Given the description of an element on the screen output the (x, y) to click on. 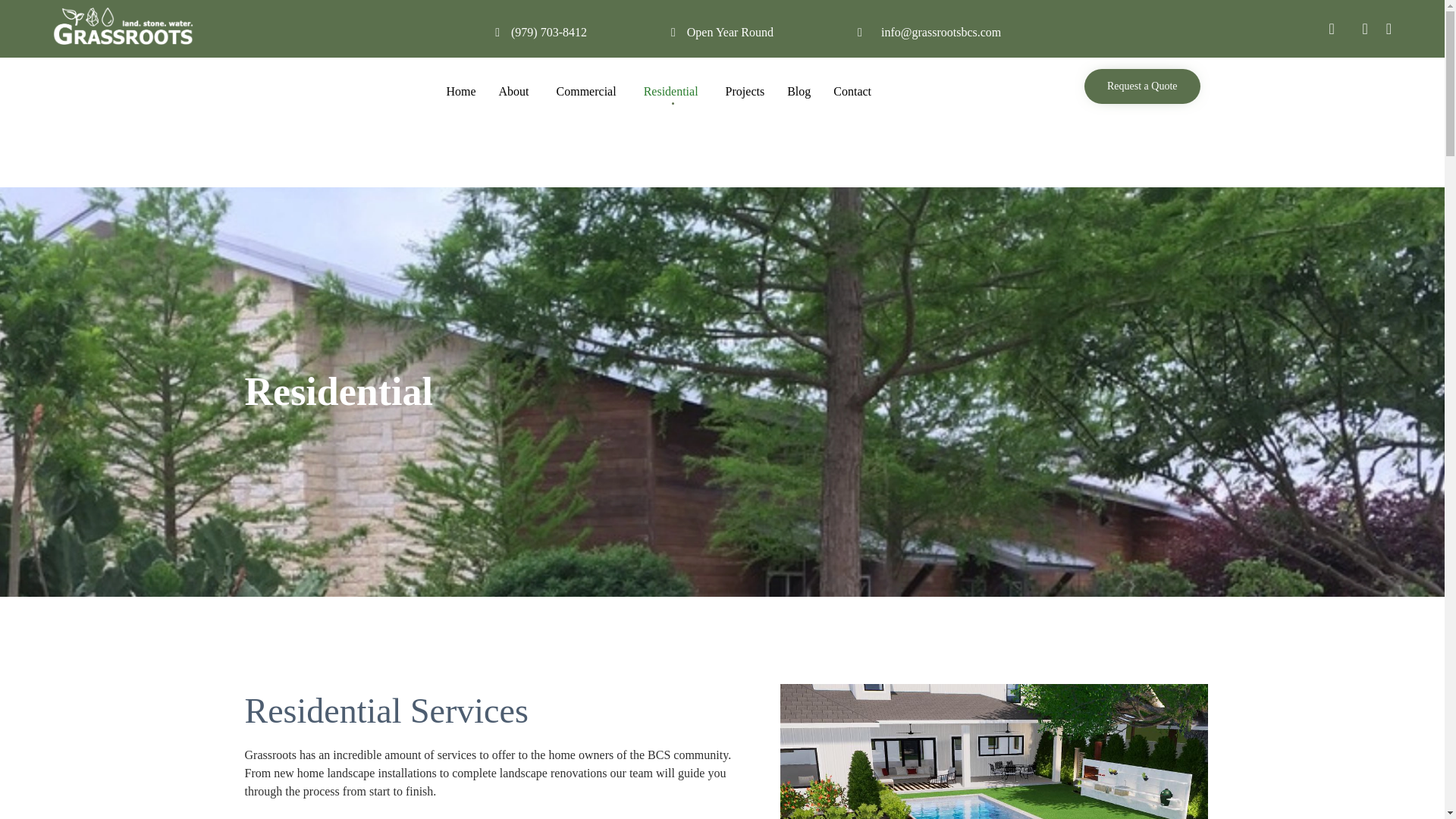
About (515, 91)
Residential (672, 91)
Request a Quote (1141, 86)
Contact (852, 91)
Commercial (587, 91)
Home (459, 91)
Blog (799, 91)
Projects (745, 91)
